Given the description of an element on the screen output the (x, y) to click on. 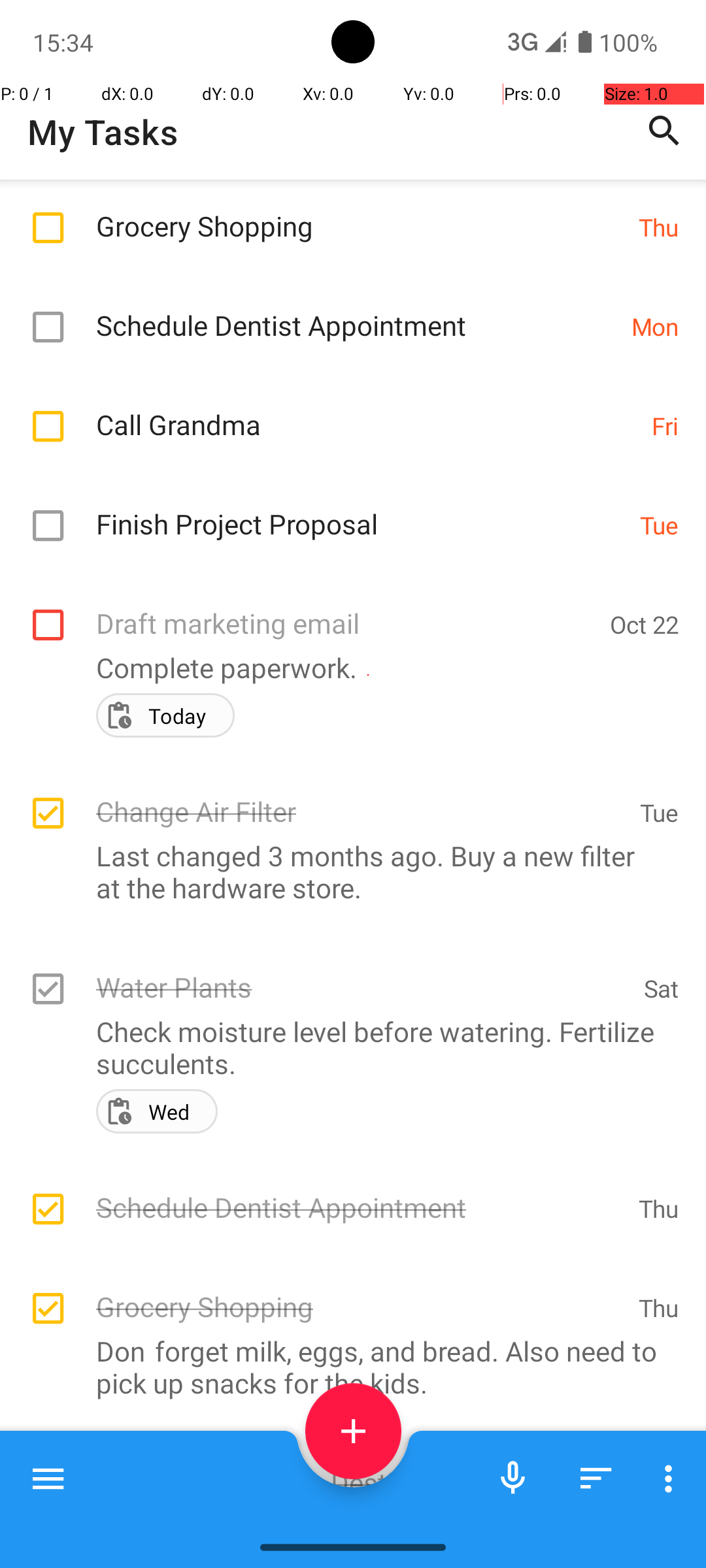
Call Grandma Element type: android.widget.TextView (367, 410)
Finish Project Proposal Element type: android.widget.TextView (361, 509)
Draft marketing email Element type: android.widget.TextView (346, 608)
Complete paperwork. Element type: android.widget.TextView (346, 667)
Oct 22 Element type: android.widget.TextView (644, 623)
Last changed 3 months ago. Buy a new filter at the hardware store. Element type: android.widget.TextView (346, 871)
Check moisture level before watering. Fertilize succulents. Element type: android.widget.TextView (346, 1046)
Sat Element type: android.widget.TextView (661, 987)
Don	 forget milk, eggs, and bread. Also need to pick up snacks for the kids. Element type: android.widget.TextView (346, 1366)
Research Vacation Destinations Element type: android.widget.TextView (357, 1468)
